Given the description of an element on the screen output the (x, y) to click on. 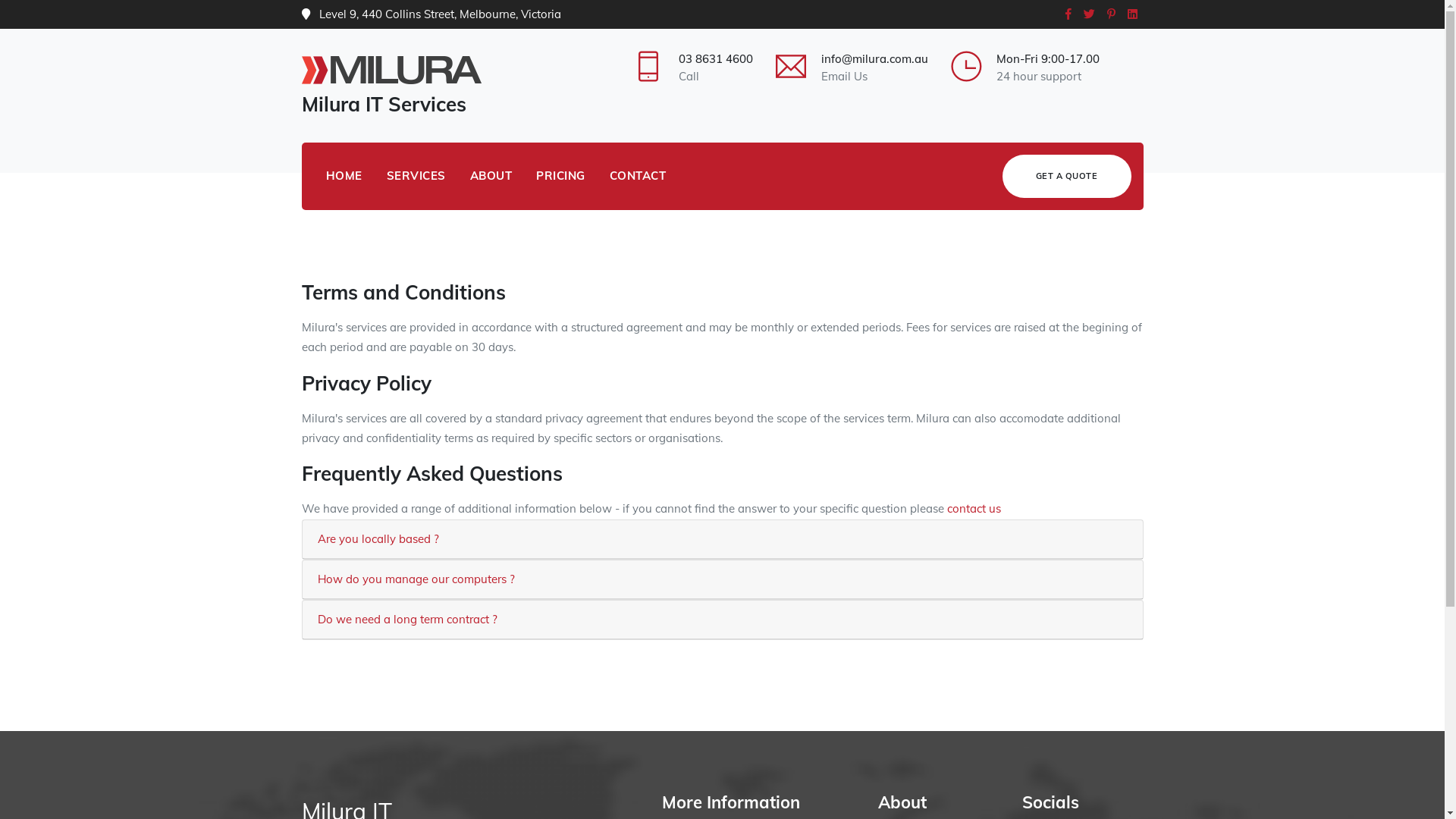
PRICING Element type: text (560, 175)
ABOUT Element type: text (491, 175)
contact us Element type: text (973, 508)
GET A QUOTE Element type: text (1066, 175)
SERVICES Element type: text (416, 175)
Are you locally based ? Element type: text (377, 537)
How do you manage our computers ? Element type: text (415, 578)
Do we need a long term contract ? Element type: text (406, 618)
HOME Element type: text (343, 175)
Milura IT Services Element type: text (396, 89)
CONTACT Element type: text (637, 175)
